Given the description of an element on the screen output the (x, y) to click on. 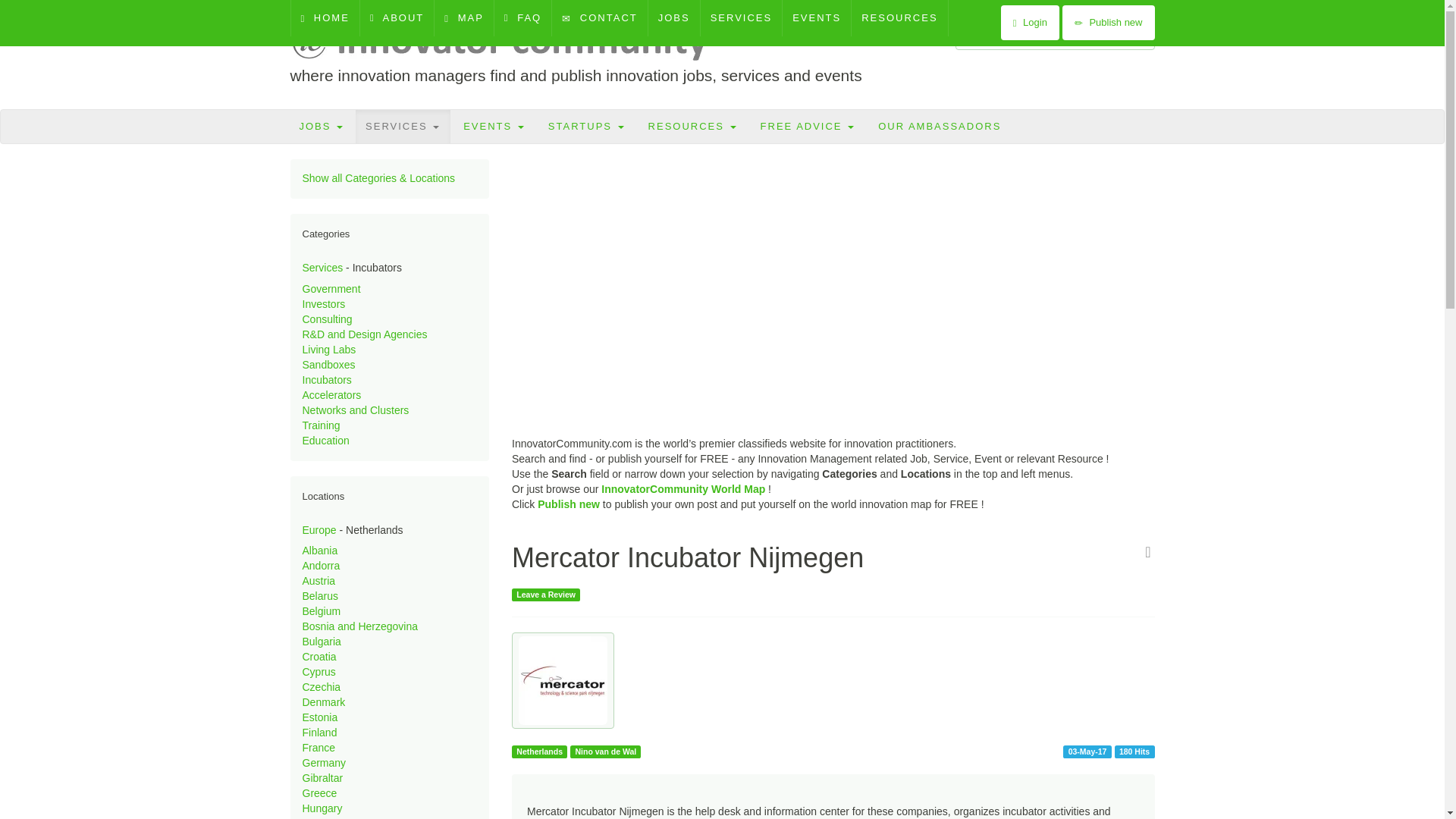
innovation-jobs (321, 126)
JOBS (673, 18)
innovation-services (402, 126)
EVENTS (493, 126)
Innovator Community (505, 41)
JOBS (321, 126)
SERVICES (402, 126)
RESOURCES (899, 18)
CONTACT (598, 18)
SERVICES (741, 18)
ABOUT (396, 18)
Login (1030, 22)
MAP (463, 18)
FAQ (523, 18)
EVENTS (816, 18)
